Given the description of an element on the screen output the (x, y) to click on. 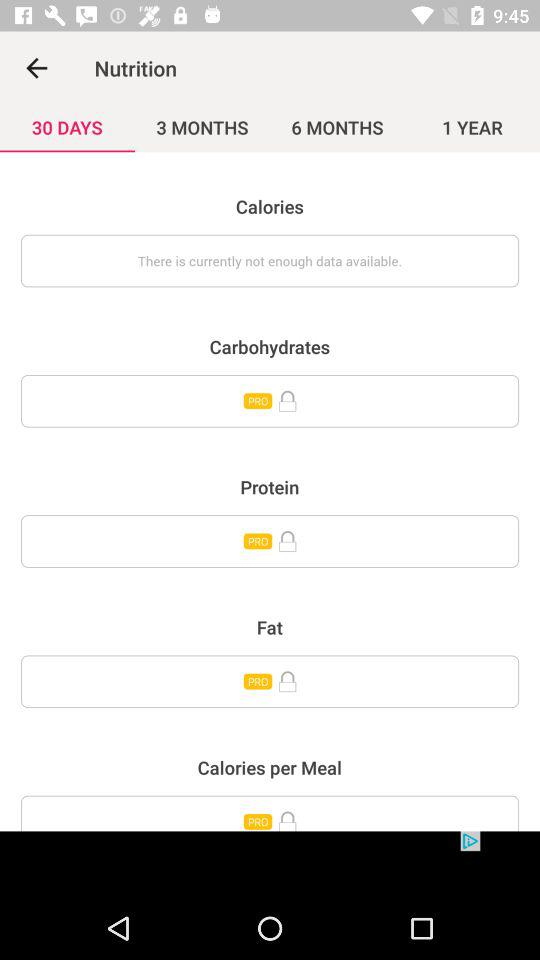
open advertisement (270, 864)
